Given the description of an element on the screen output the (x, y) to click on. 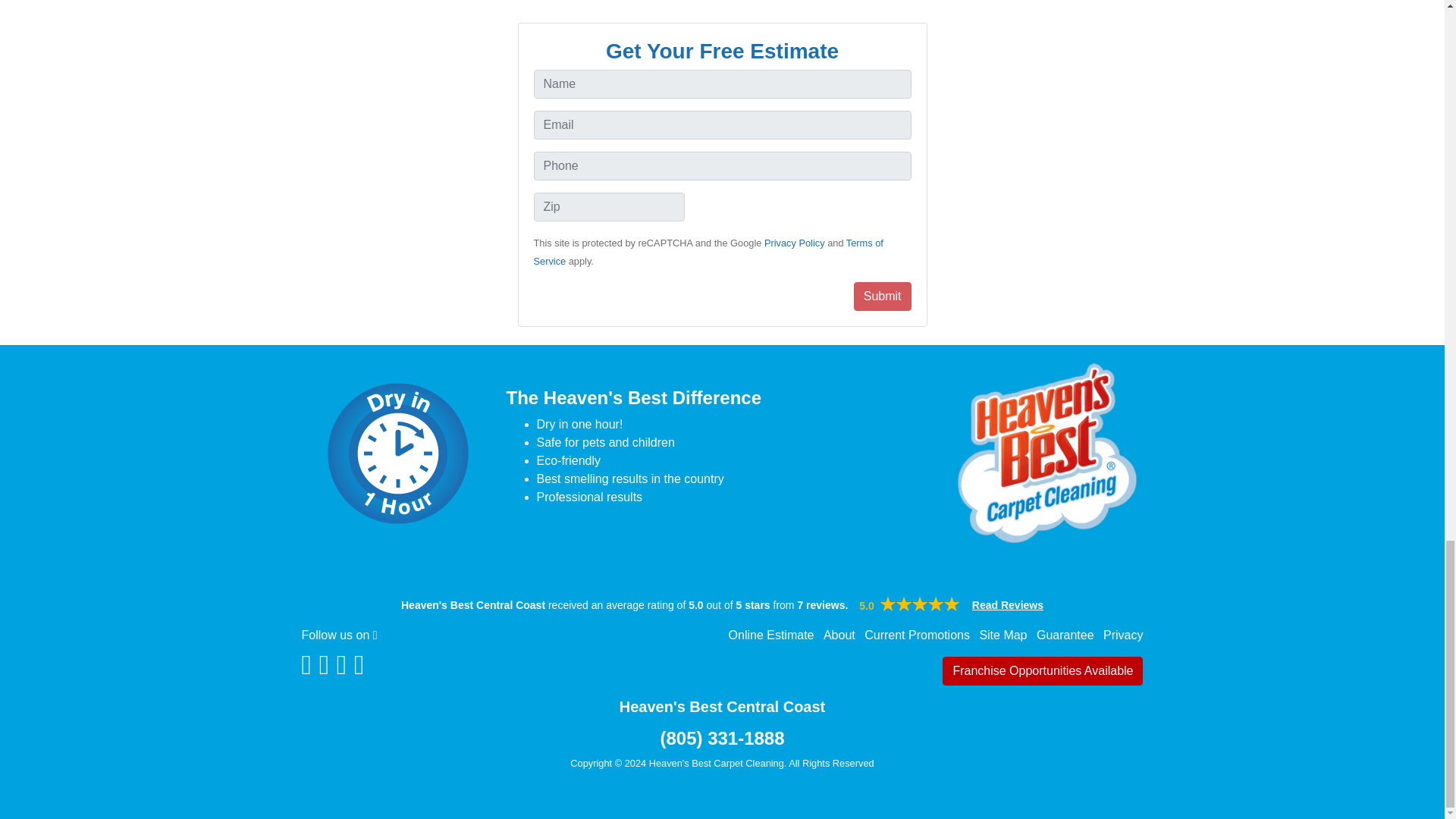
Heaven's Best Central Coast Reviews (919, 603)
Submit (882, 296)
